Given the description of an element on the screen output the (x, y) to click on. 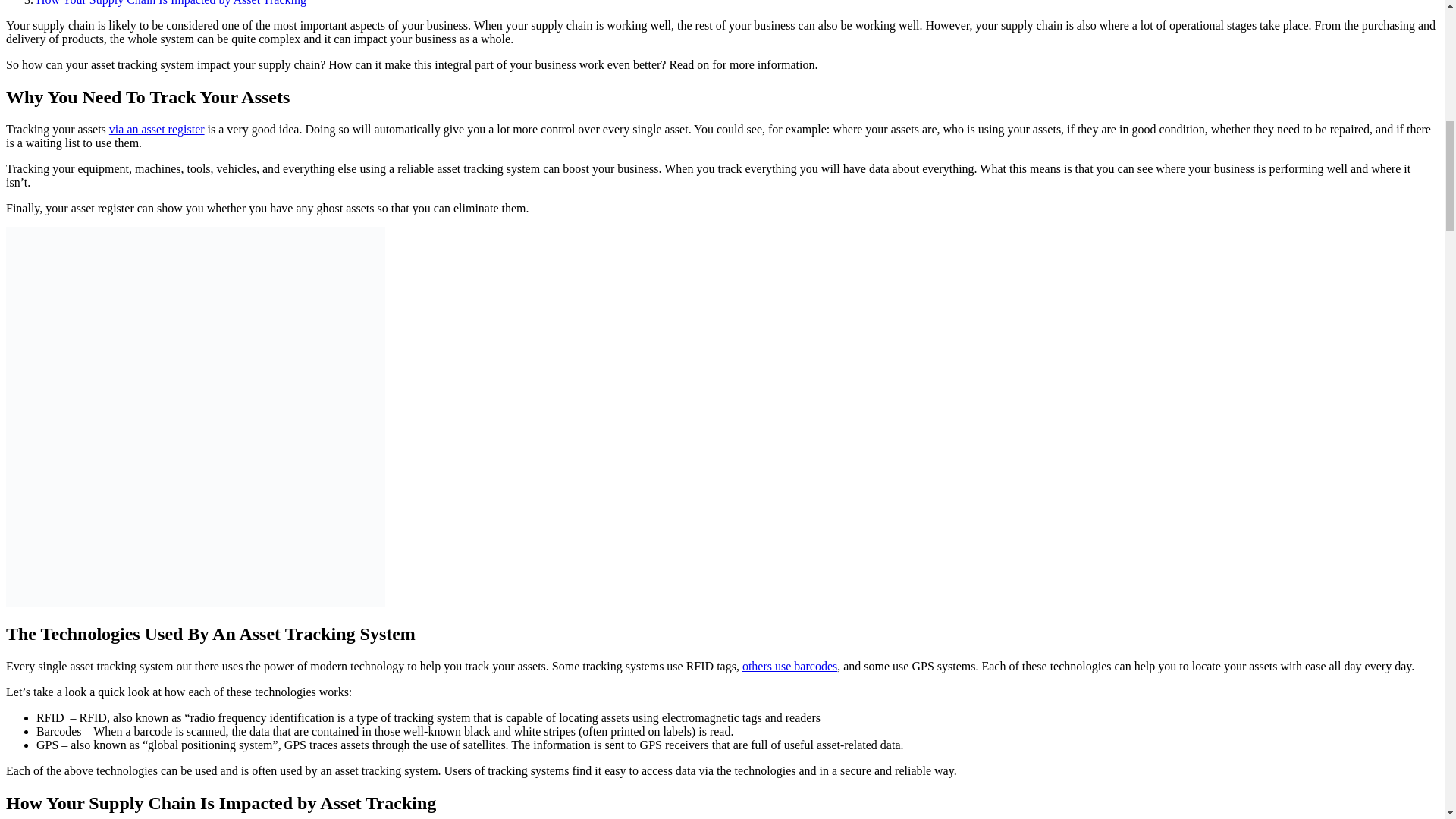
via an asset register (157, 128)
others use barcodes (789, 666)
How Your Supply Chain Is Impacted by Asset Tracking (170, 2)
